Given the description of an element on the screen output the (x, y) to click on. 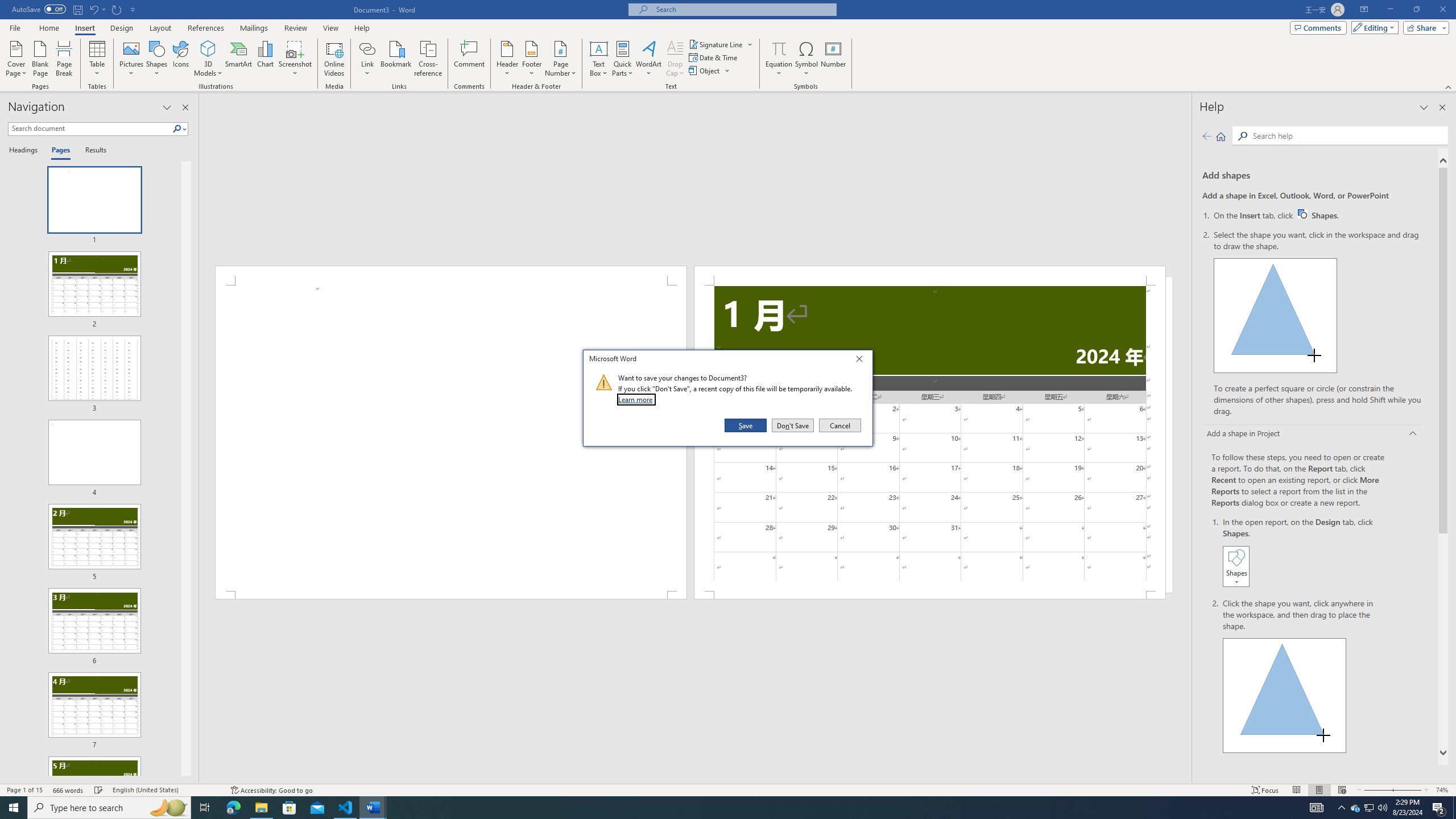
In the open report, on the Design tab, click Shapes. (1304, 552)
Cross-reference... (428, 58)
Don't Save (1368, 807)
Page Break (792, 425)
Number... (63, 58)
Accessibility Checker Accessibility: Good to go (833, 58)
User Promoted Notification Area (271, 790)
WordArt (1368, 807)
Header -Section 1- (648, 58)
